Given the description of an element on the screen output the (x, y) to click on. 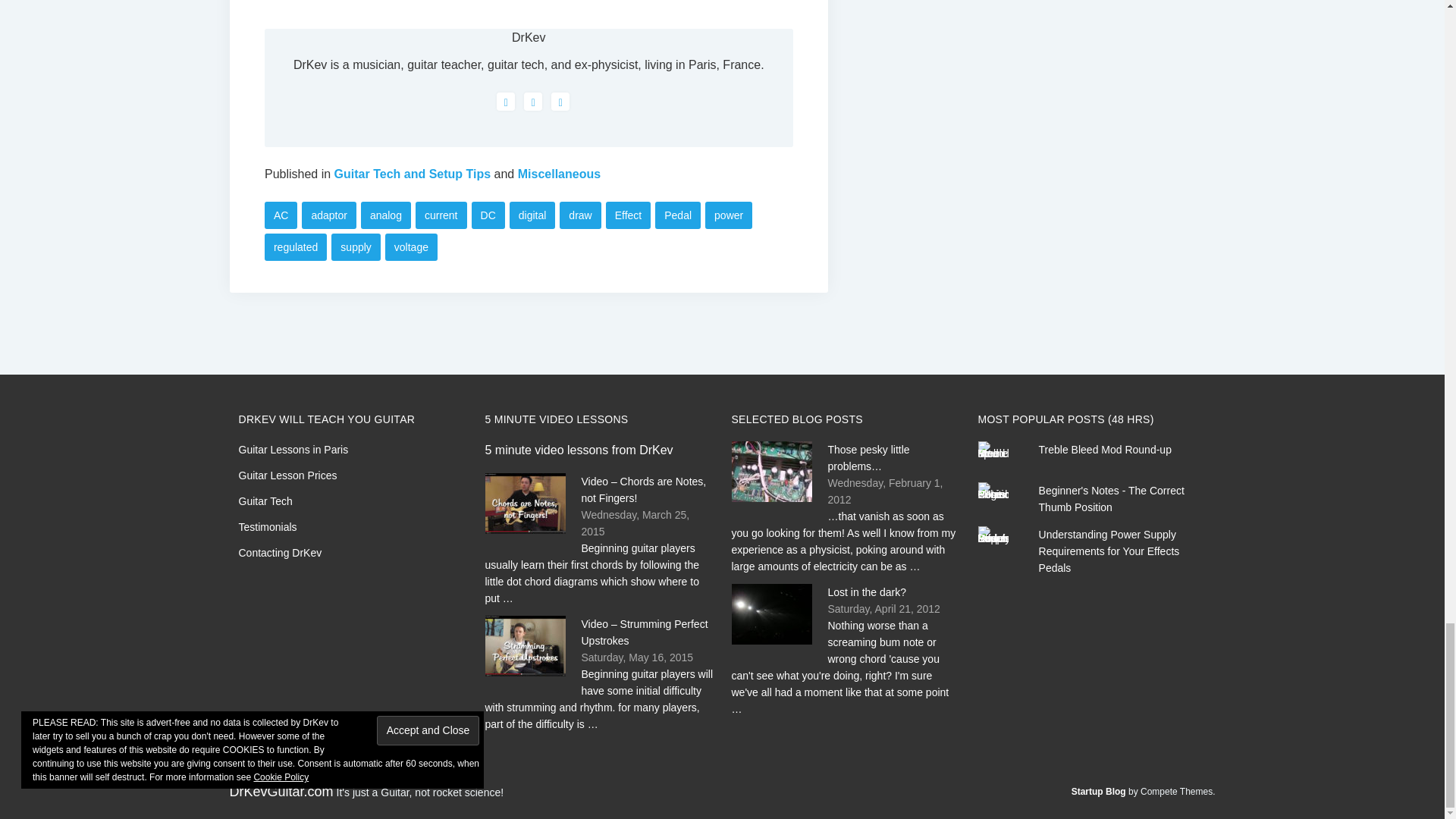
View all posts tagged AC (280, 215)
View all posts tagged adaptor (328, 215)
View all posts in Guitar Tech and Setup Tips (413, 173)
digital (532, 215)
DC (488, 215)
DrKev (528, 37)
Miscellaneous (558, 173)
AC (280, 215)
Guitar Tech and Setup Tips (413, 173)
current (440, 215)
